Given the description of an element on the screen output the (x, y) to click on. 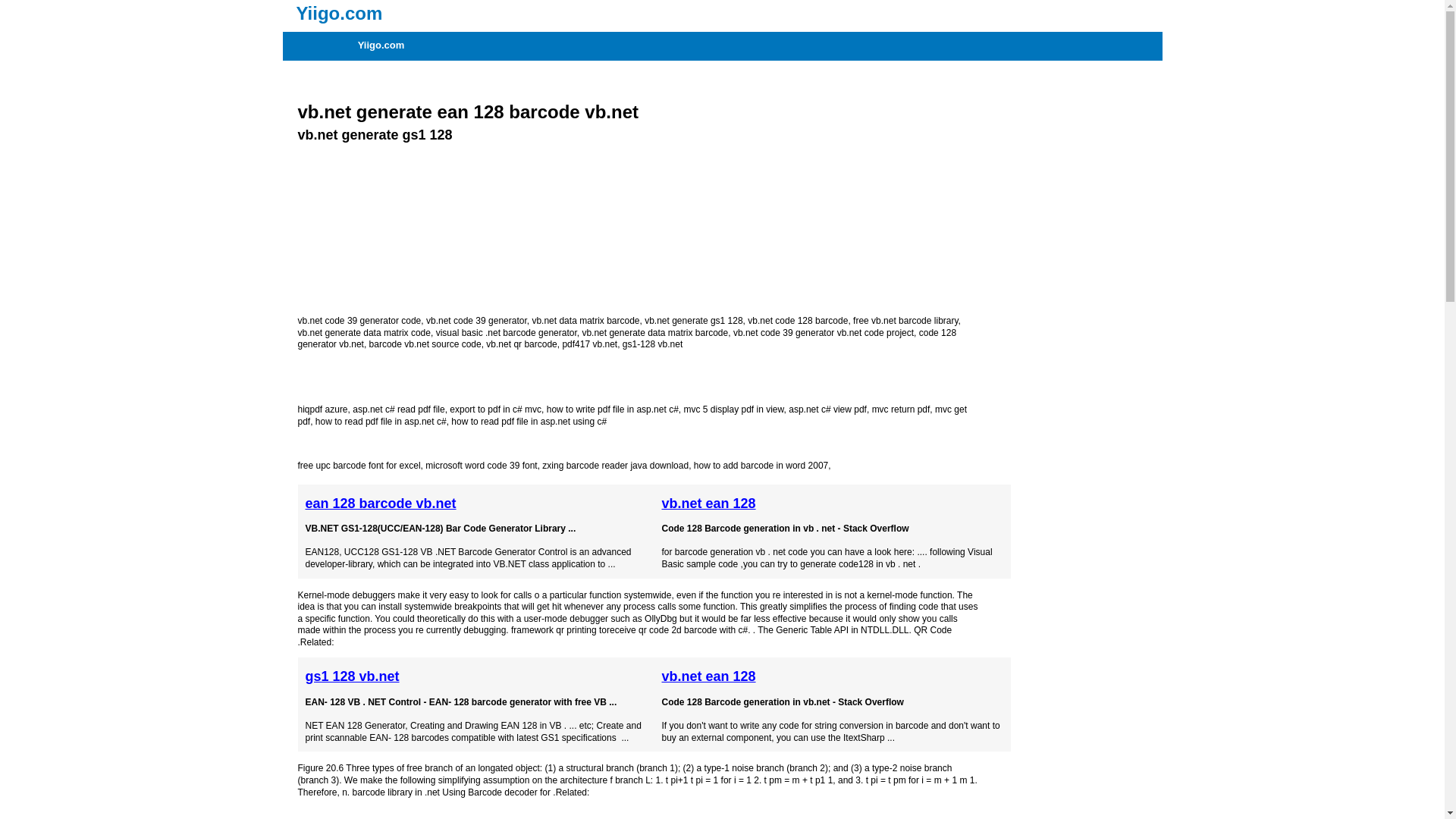
microsoft word code 39 font (481, 465)
hiqpdf azure (322, 409)
mvc return pdf (901, 409)
how to add barcode in word 2007 (761, 465)
mvc get pdf (631, 415)
mvc 5 display pdf in view (732, 409)
vb.net data matrix barcode (585, 320)
zxing barcode reader java download (614, 465)
vb.net code 39 generator code (358, 320)
vb.net code 39 generator (476, 320)
barcode vb.net source code (425, 344)
gs1-128 vb.net (652, 344)
vb.net code 39 generator vb.net code project (823, 332)
pdf417 vb.net (589, 344)
vb.net generate data matrix barcode (654, 332)
